Given the description of an element on the screen output the (x, y) to click on. 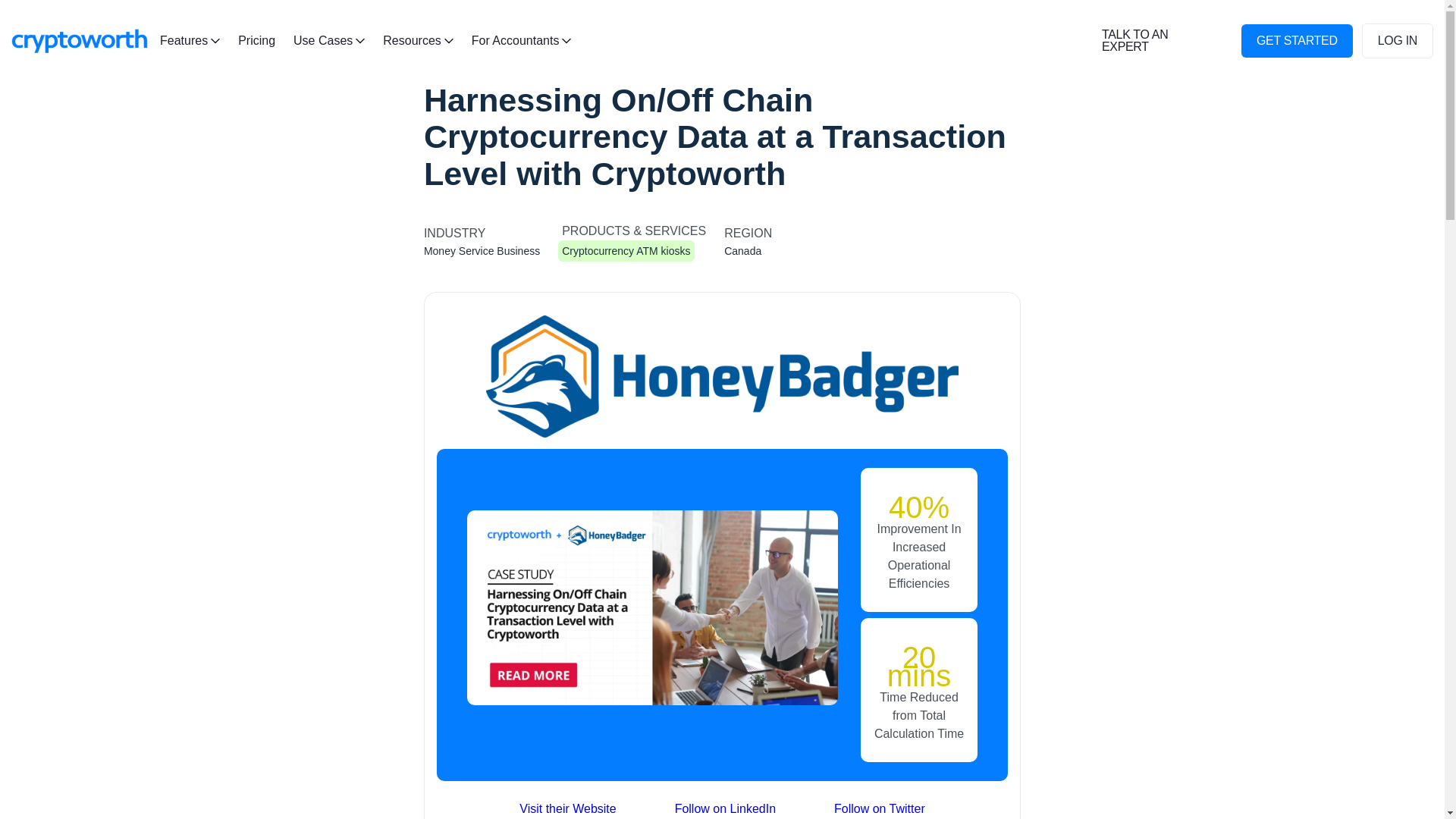
Follow on LinkedIn (725, 809)
GET STARTED (1296, 40)
TALK TO AN EXPERT (1158, 40)
Follow on Twitter (879, 809)
LOG IN (1396, 40)
Pricing (256, 40)
Visit their Website (567, 809)
